Given the description of an element on the screen output the (x, y) to click on. 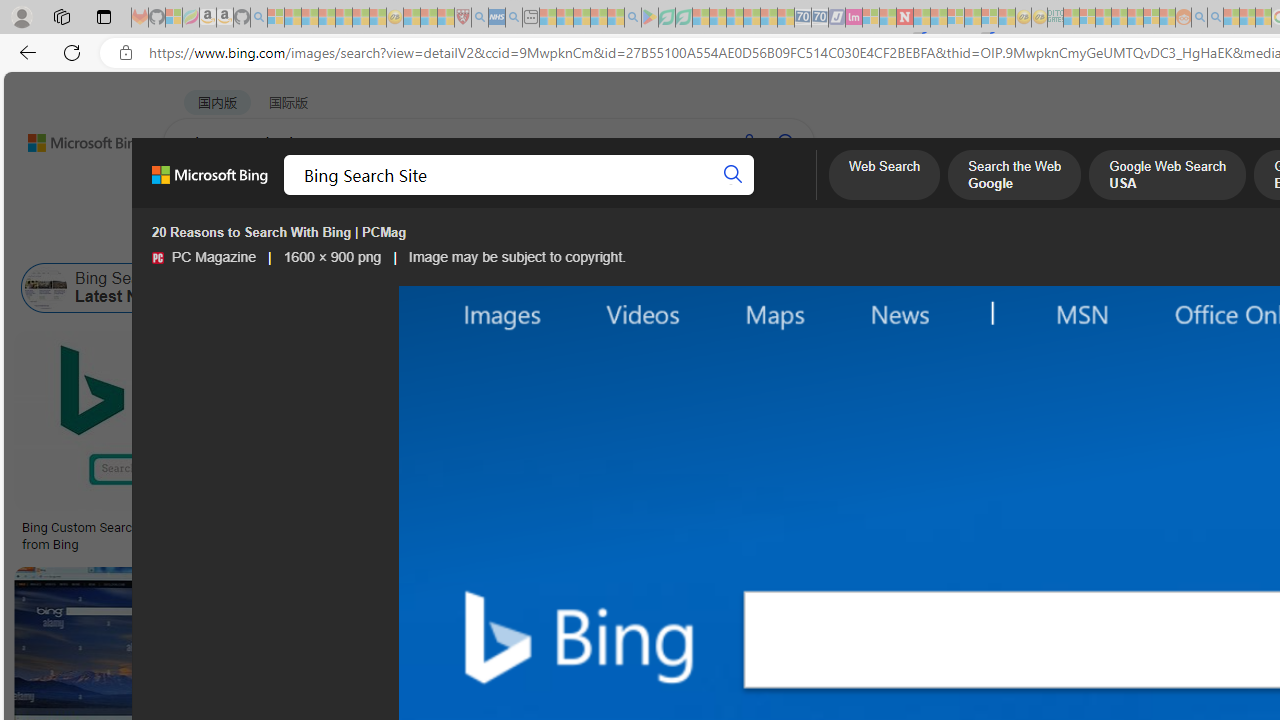
MY BING (276, 195)
Show Bing Search Engine (889, 287)
Back to Bing search (73, 138)
Bluey: Let's Play! - Apps on Google Play - Sleeping (649, 17)
WEB (201, 195)
google - Search - Sleeping (632, 17)
Image size (222, 237)
